Given the description of an element on the screen output the (x, y) to click on. 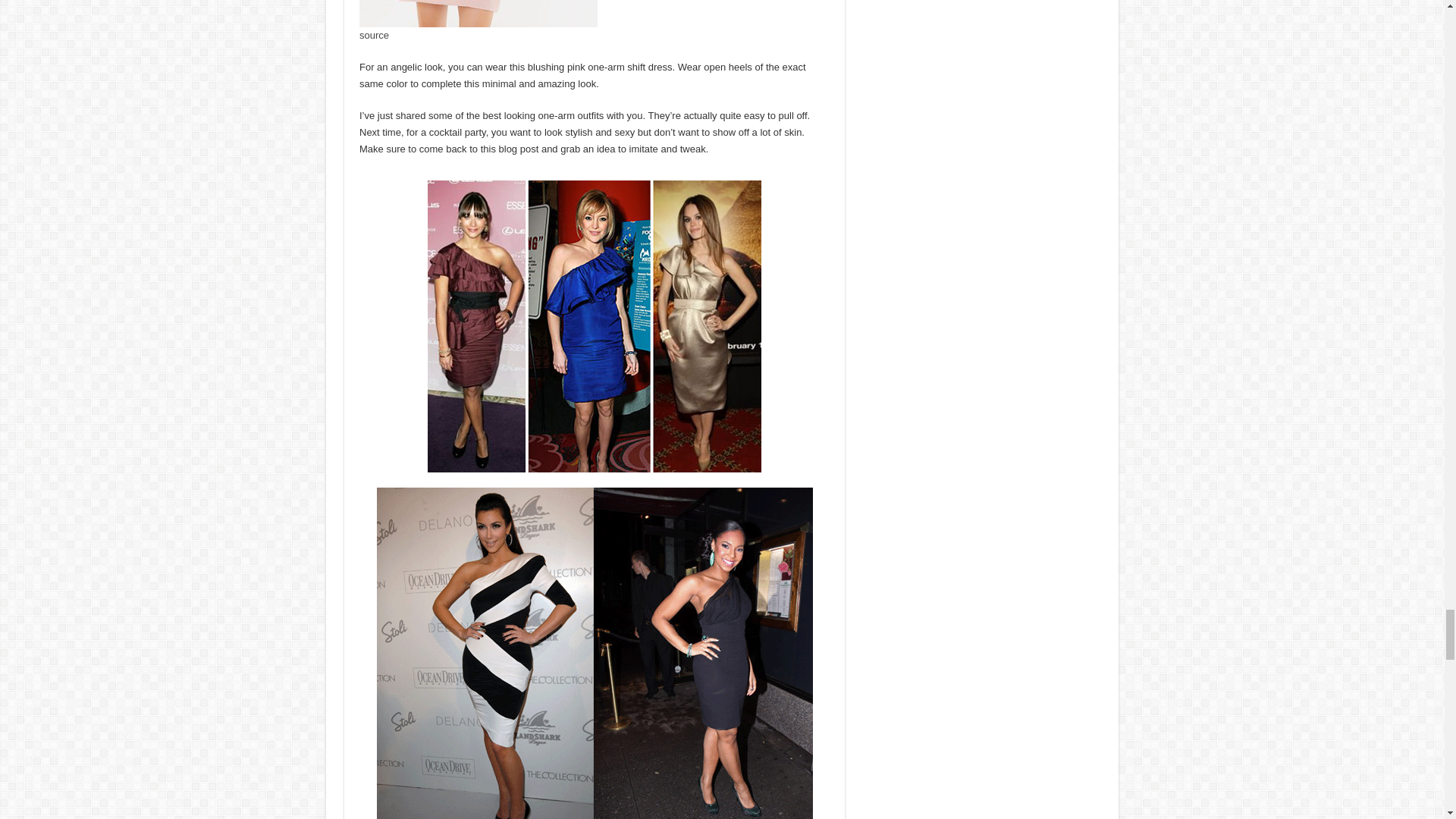
source (373, 34)
